Given the description of an element on the screen output the (x, y) to click on. 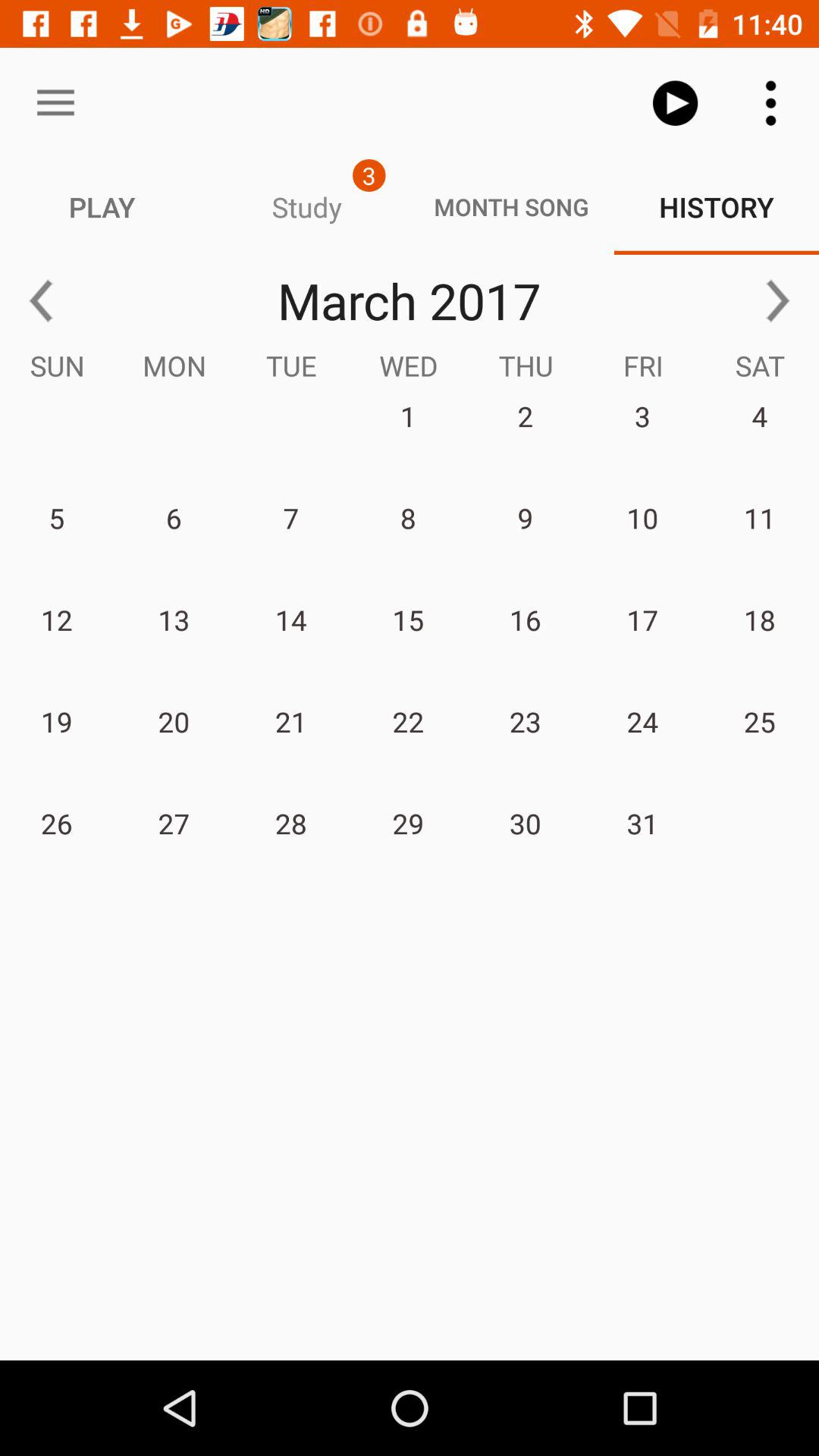
next month (777, 300)
